Given the description of an element on the screen output the (x, y) to click on. 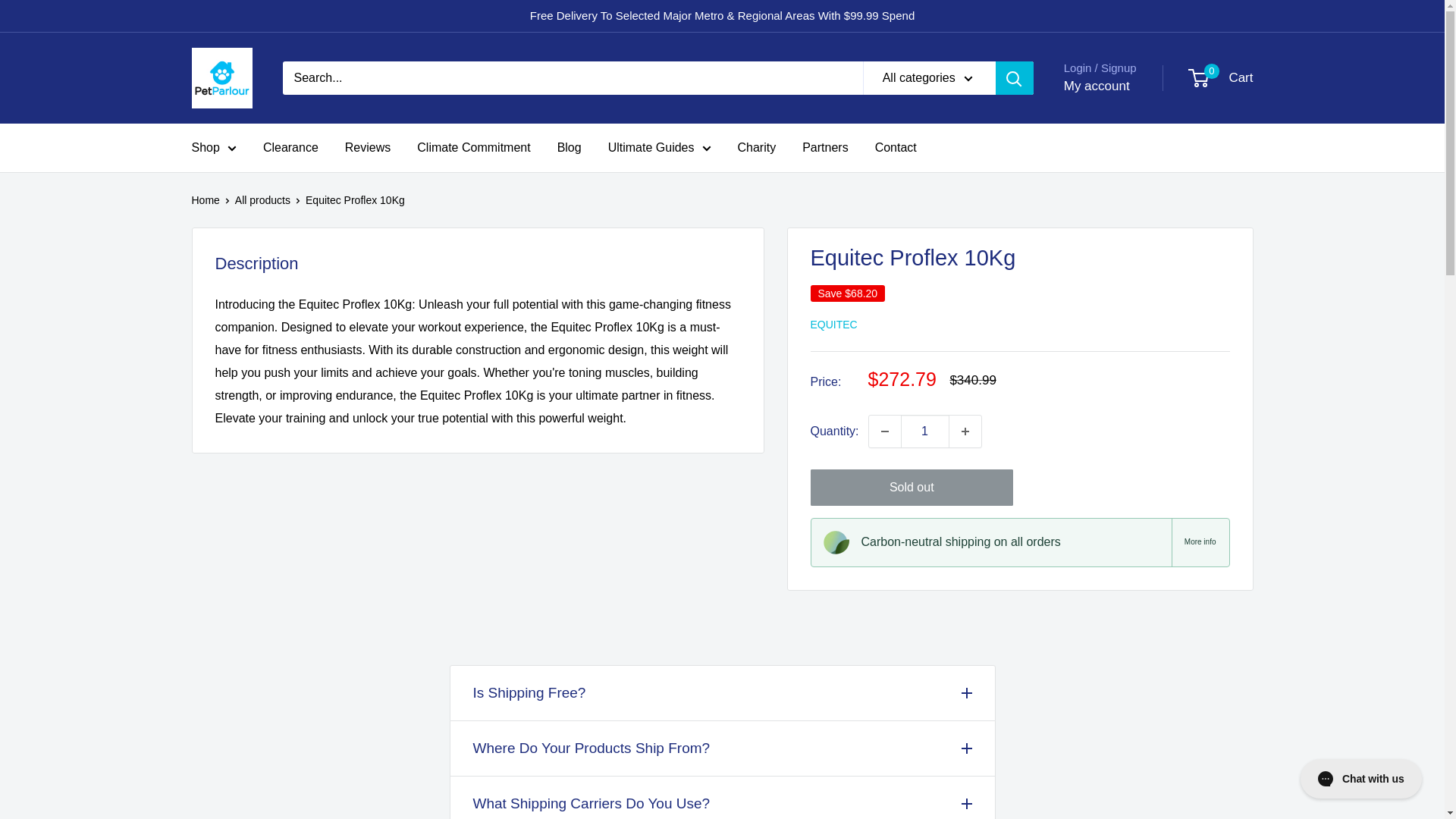
Decrease quantity by 1 (885, 431)
Increase quantity by 1 (965, 431)
Gorgias live chat messenger (1360, 778)
1 (925, 431)
